Given the description of an element on the screen output the (x, y) to click on. 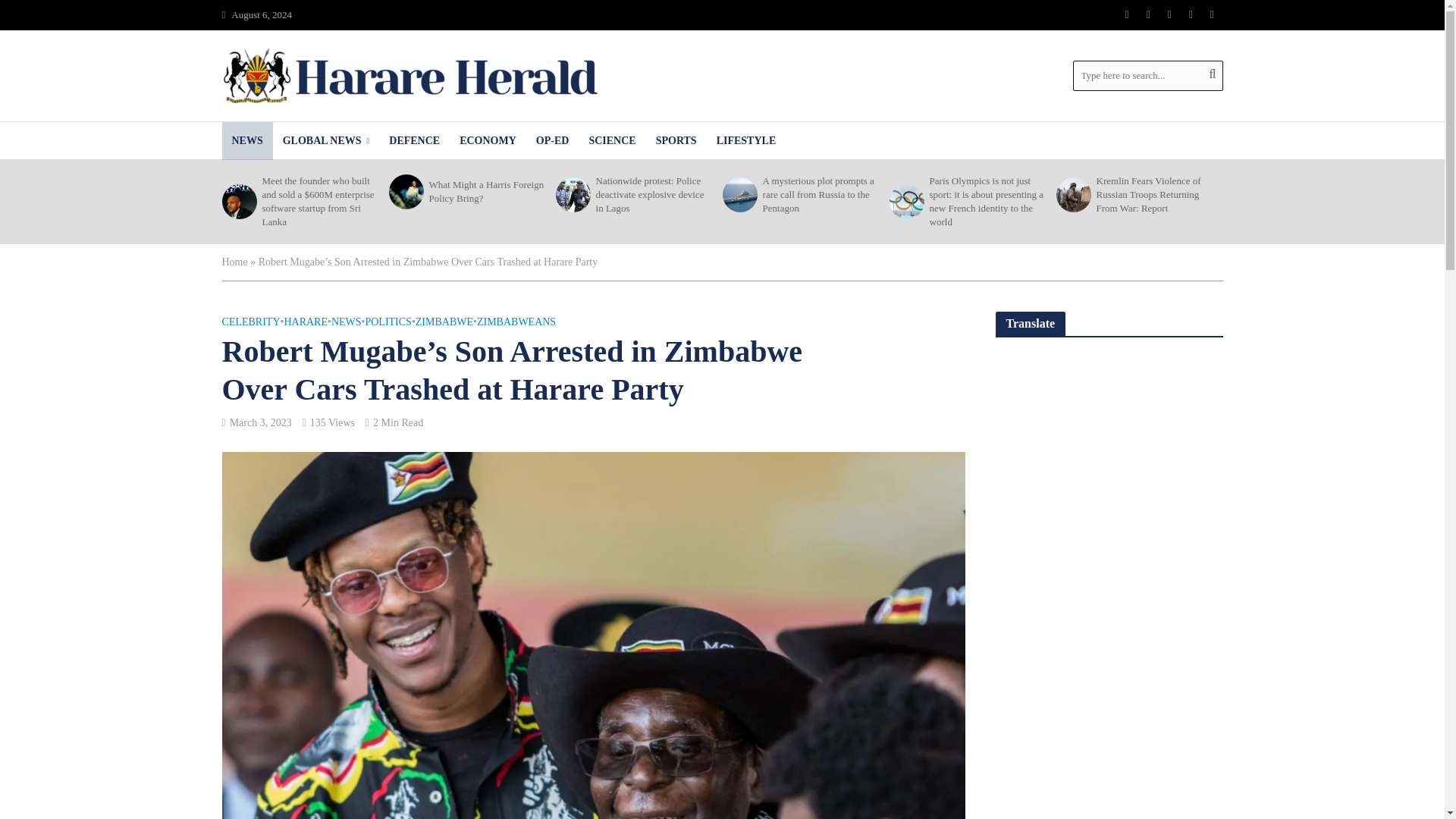
What Might a Harris Foreign Policy Bring? (404, 191)
NEWS (246, 140)
GLOBAL NEWS (326, 140)
